Given the description of an element on the screen output the (x, y) to click on. 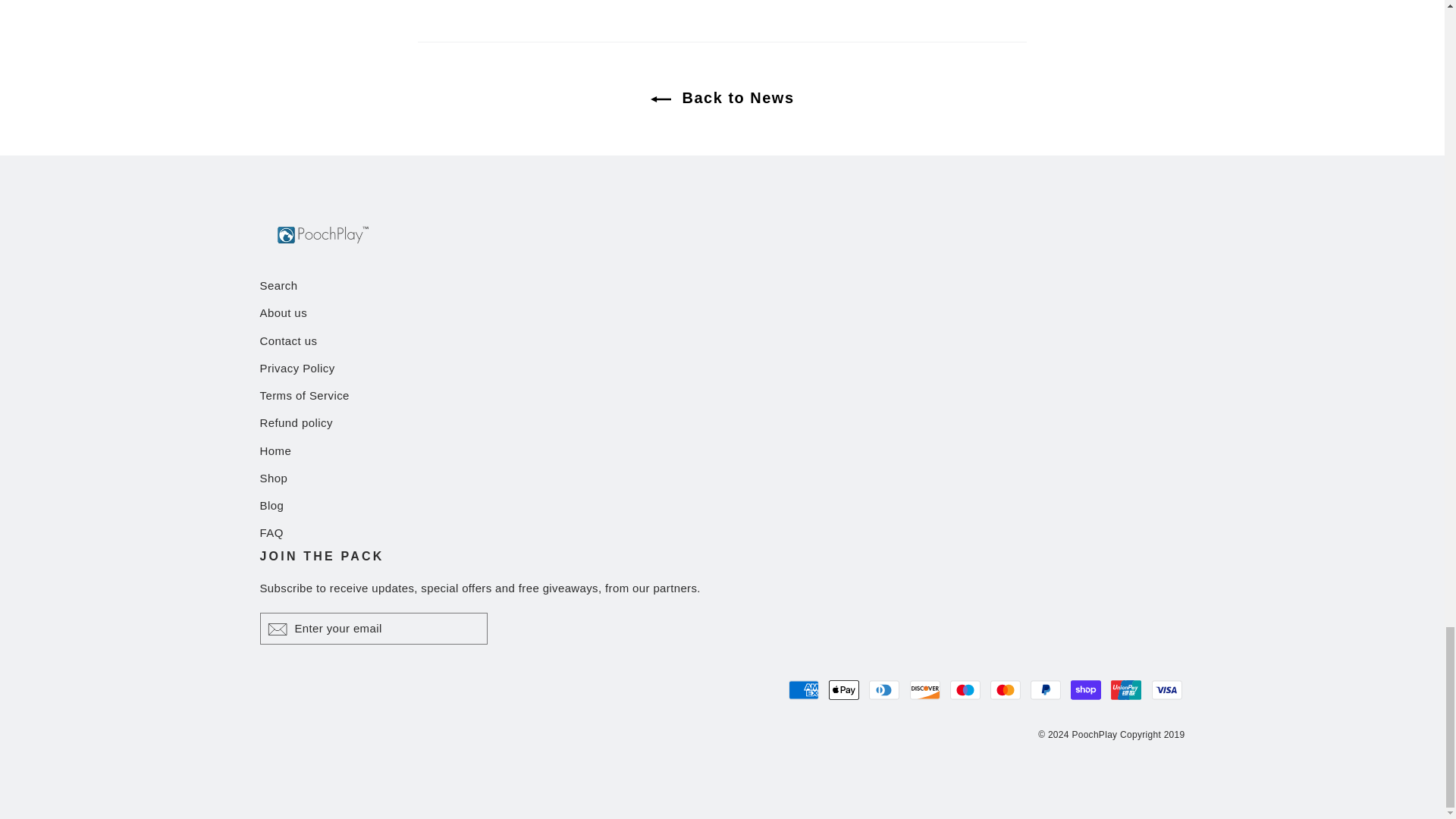
Back to News (722, 97)
Terms of Service (722, 395)
PayPal (1045, 689)
FAQ (722, 532)
Visa (1165, 689)
Refund policy (722, 422)
Diners Club (884, 689)
Shop Pay (1085, 689)
Maestro (964, 689)
Discover (925, 689)
